Given the description of an element on the screen output the (x, y) to click on. 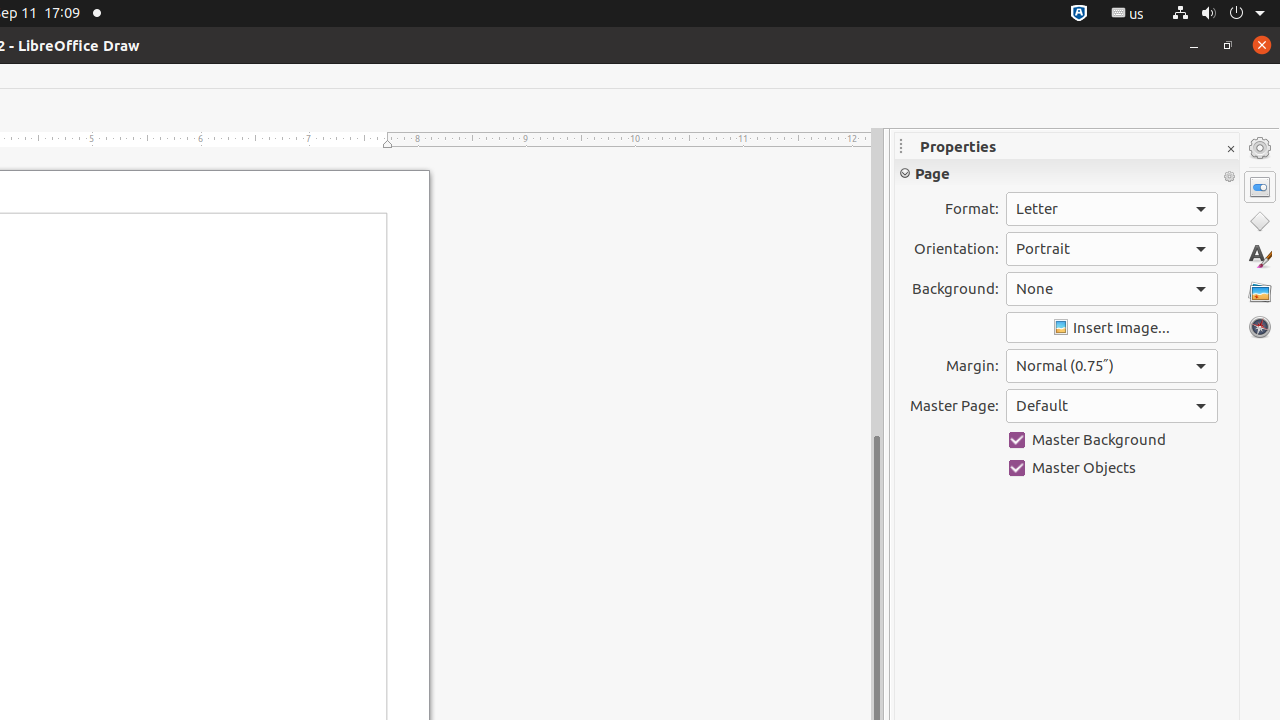
Insert Image Element type: push-button (1112, 327)
:1.72/StatusNotifierItem Element type: menu (1079, 13)
More Options Element type: push-button (1229, 177)
Orientation: Element type: combo-box (1112, 249)
Properties Element type: radio-button (1260, 187)
